Given the description of an element on the screen output the (x, y) to click on. 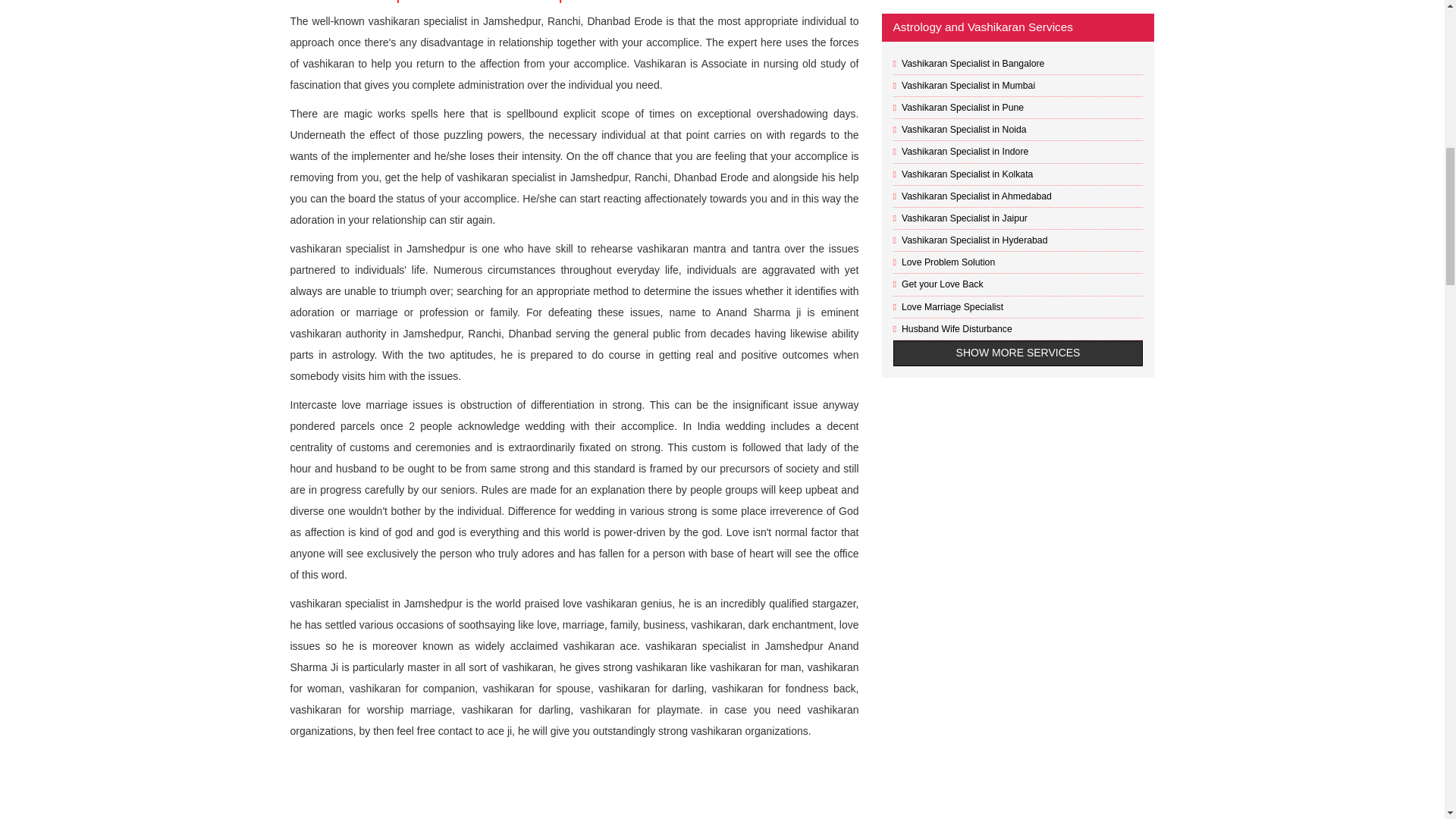
Vashikaran Specialist in Bangalore (972, 63)
Love Problem Solution (947, 262)
Vashikaran Specialist in Kolkata (966, 173)
Vashikaran Specialist in Ahmedabad (976, 195)
Vashikaran Specialist in Noida (963, 129)
Vashikaran Specialist in Jaipur (964, 217)
Vashikaran Specialist in Pune (962, 107)
Husband Wife Disturbance (956, 328)
Love Marriage Specialist (952, 307)
Vashikaran Specialist in Indore (964, 151)
Get your Love Back (942, 284)
Vashikaran Specialist in Hyderabad (973, 240)
Vashikaran Specialist in Mumbai (968, 85)
